Given the description of an element on the screen output the (x, y) to click on. 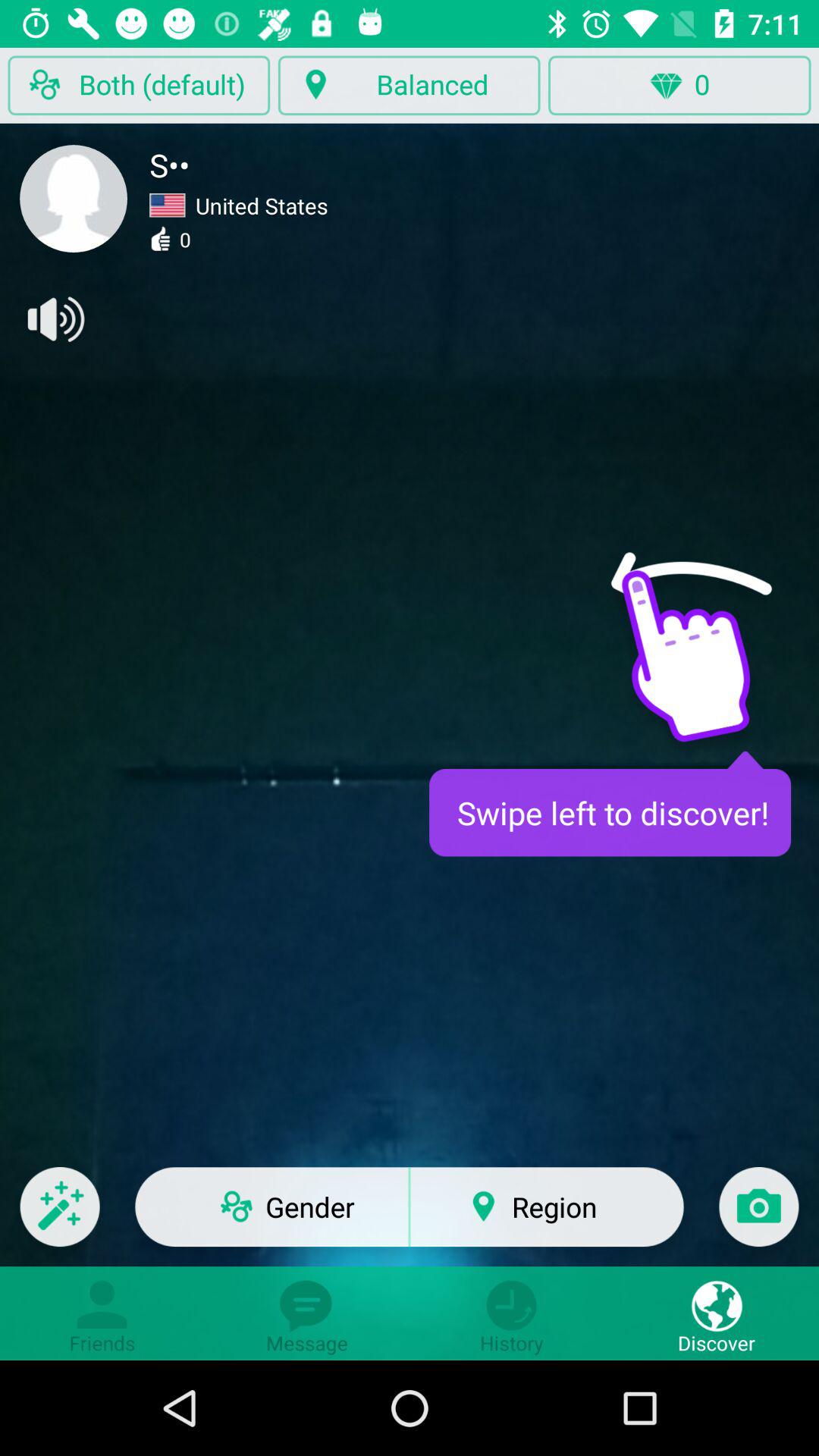
take a photo (758, 1216)
